Given the description of an element on the screen output the (x, y) to click on. 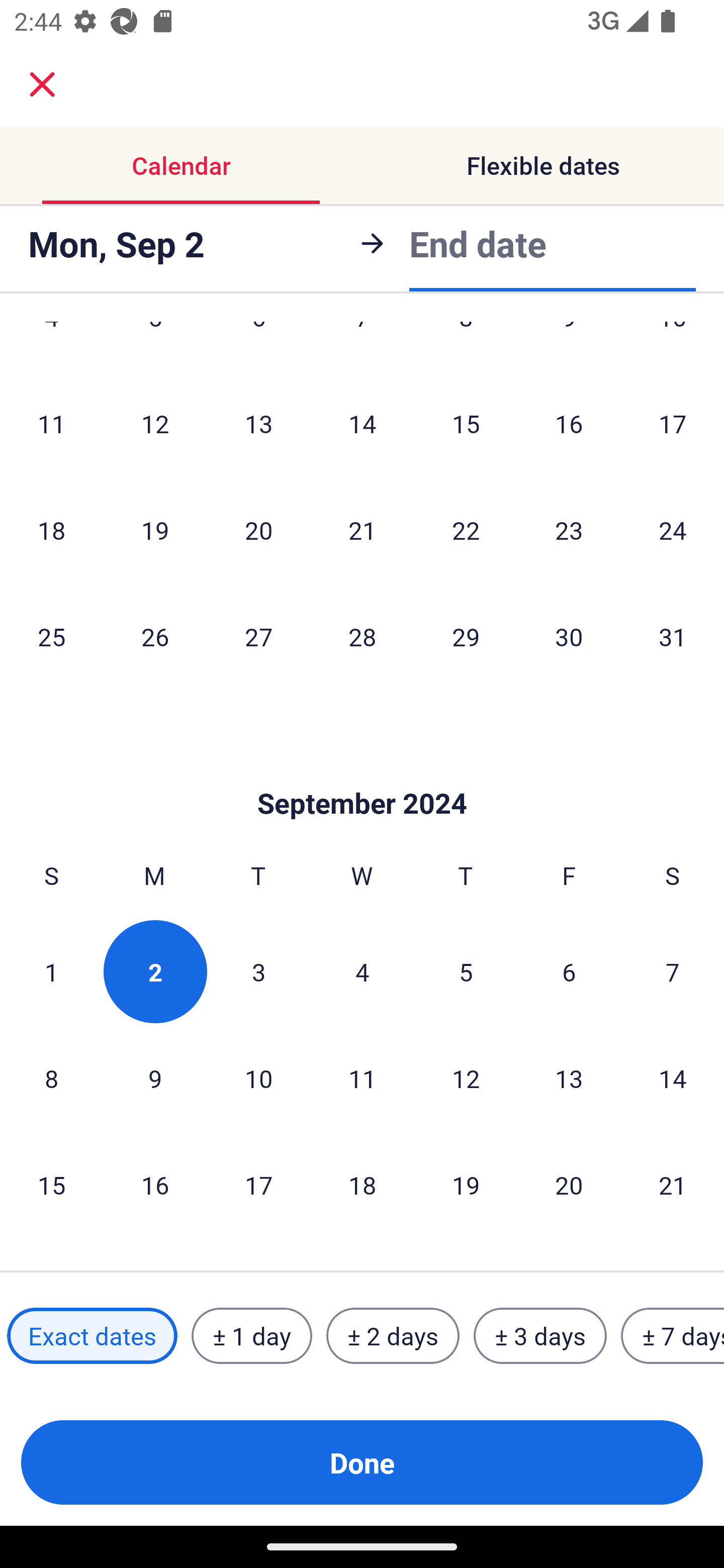
close. (42, 84)
Flexible dates (542, 164)
End date (477, 240)
11 Sunday, August 11, 2024 (51, 423)
12 Monday, August 12, 2024 (155, 423)
13 Tuesday, August 13, 2024 (258, 423)
14 Wednesday, August 14, 2024 (362, 423)
15 Thursday, August 15, 2024 (465, 423)
16 Friday, August 16, 2024 (569, 423)
17 Saturday, August 17, 2024 (672, 423)
18 Sunday, August 18, 2024 (51, 529)
19 Monday, August 19, 2024 (155, 529)
20 Tuesday, August 20, 2024 (258, 529)
21 Wednesday, August 21, 2024 (362, 529)
22 Thursday, August 22, 2024 (465, 529)
23 Friday, August 23, 2024 (569, 529)
24 Saturday, August 24, 2024 (672, 529)
25 Sunday, August 25, 2024 (51, 636)
26 Monday, August 26, 2024 (155, 636)
27 Tuesday, August 27, 2024 (258, 636)
28 Wednesday, August 28, 2024 (362, 636)
29 Thursday, August 29, 2024 (465, 636)
30 Friday, August 30, 2024 (569, 636)
31 Saturday, August 31, 2024 (672, 636)
Skip to Done (362, 772)
1 Sunday, September 1, 2024 (51, 971)
3 Tuesday, September 3, 2024 (258, 971)
4 Wednesday, September 4, 2024 (362, 971)
5 Thursday, September 5, 2024 (465, 971)
6 Friday, September 6, 2024 (569, 971)
7 Saturday, September 7, 2024 (672, 971)
8 Sunday, September 8, 2024 (51, 1078)
9 Monday, September 9, 2024 (155, 1078)
10 Tuesday, September 10, 2024 (258, 1078)
11 Wednesday, September 11, 2024 (362, 1078)
12 Thursday, September 12, 2024 (465, 1078)
13 Friday, September 13, 2024 (569, 1078)
14 Saturday, September 14, 2024 (672, 1078)
15 Sunday, September 15, 2024 (51, 1184)
16 Monday, September 16, 2024 (155, 1184)
17 Tuesday, September 17, 2024 (258, 1184)
18 Wednesday, September 18, 2024 (362, 1184)
19 Thursday, September 19, 2024 (465, 1184)
20 Friday, September 20, 2024 (569, 1184)
21 Saturday, September 21, 2024 (672, 1184)
Exact dates (92, 1335)
± 1 day (251, 1335)
± 2 days (392, 1335)
± 3 days (539, 1335)
± 7 days (672, 1335)
Done (361, 1462)
